Given the description of an element on the screen output the (x, y) to click on. 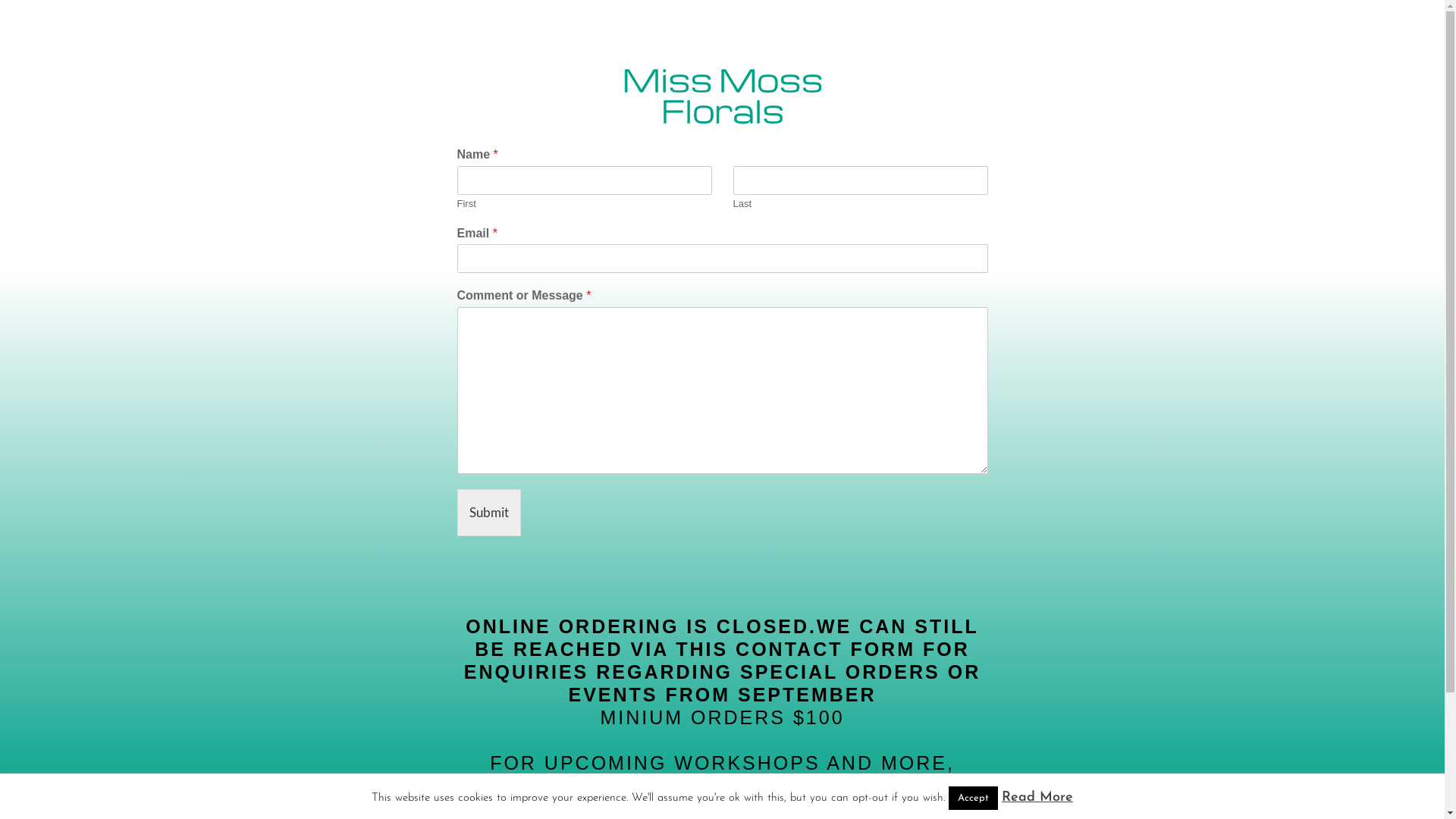
Accept Element type: text (972, 797)
Submit Element type: text (488, 512)
Read More Element type: text (1037, 797)
